Given the description of an element on the screen output the (x, y) to click on. 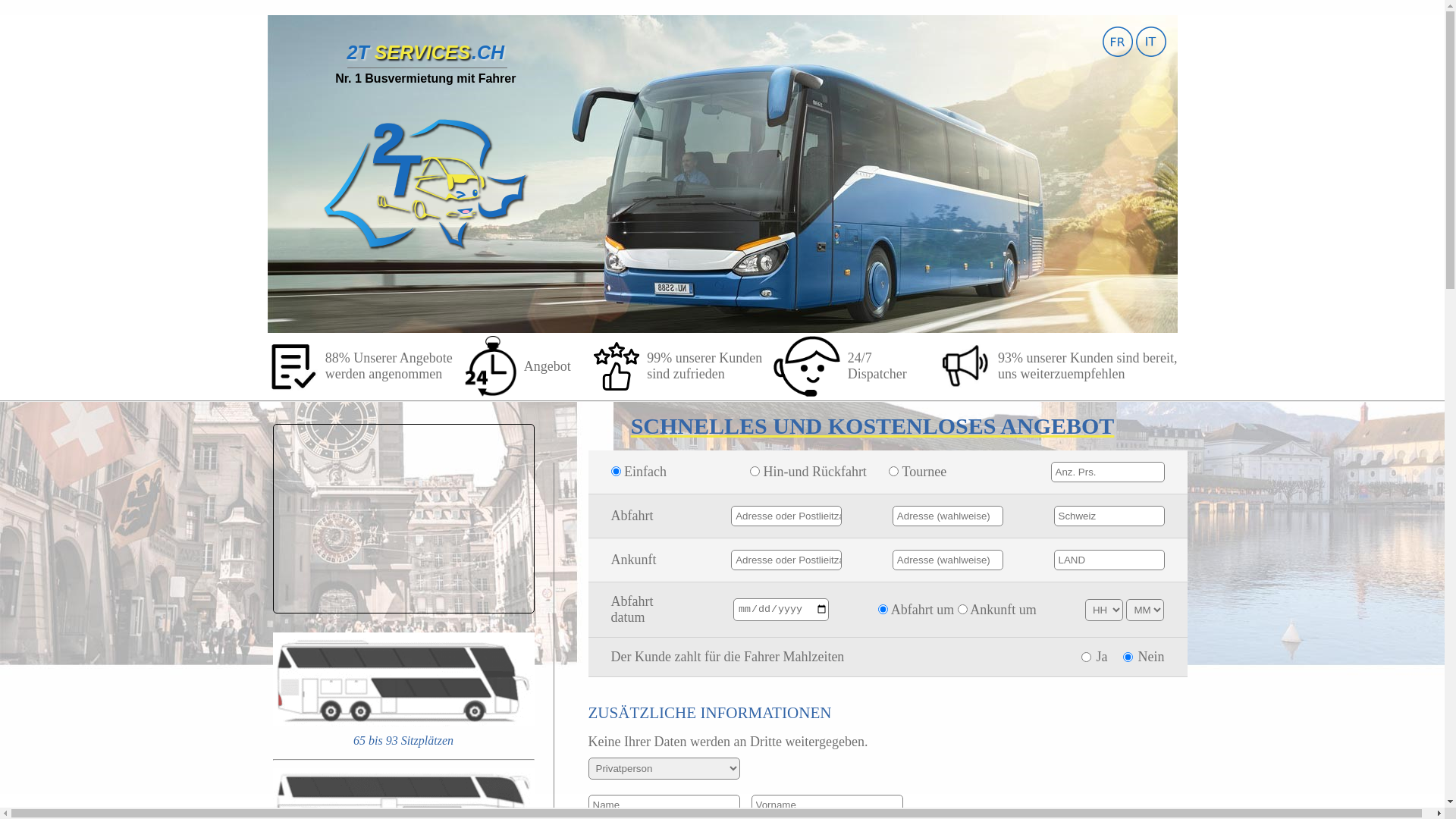
YouTube video Element type: hover (403, 518)
2T SERVICES.CH
Nr. 1 Busvermietung mit Fahrer Element type: text (425, 164)
